Given the description of an element on the screen output the (x, y) to click on. 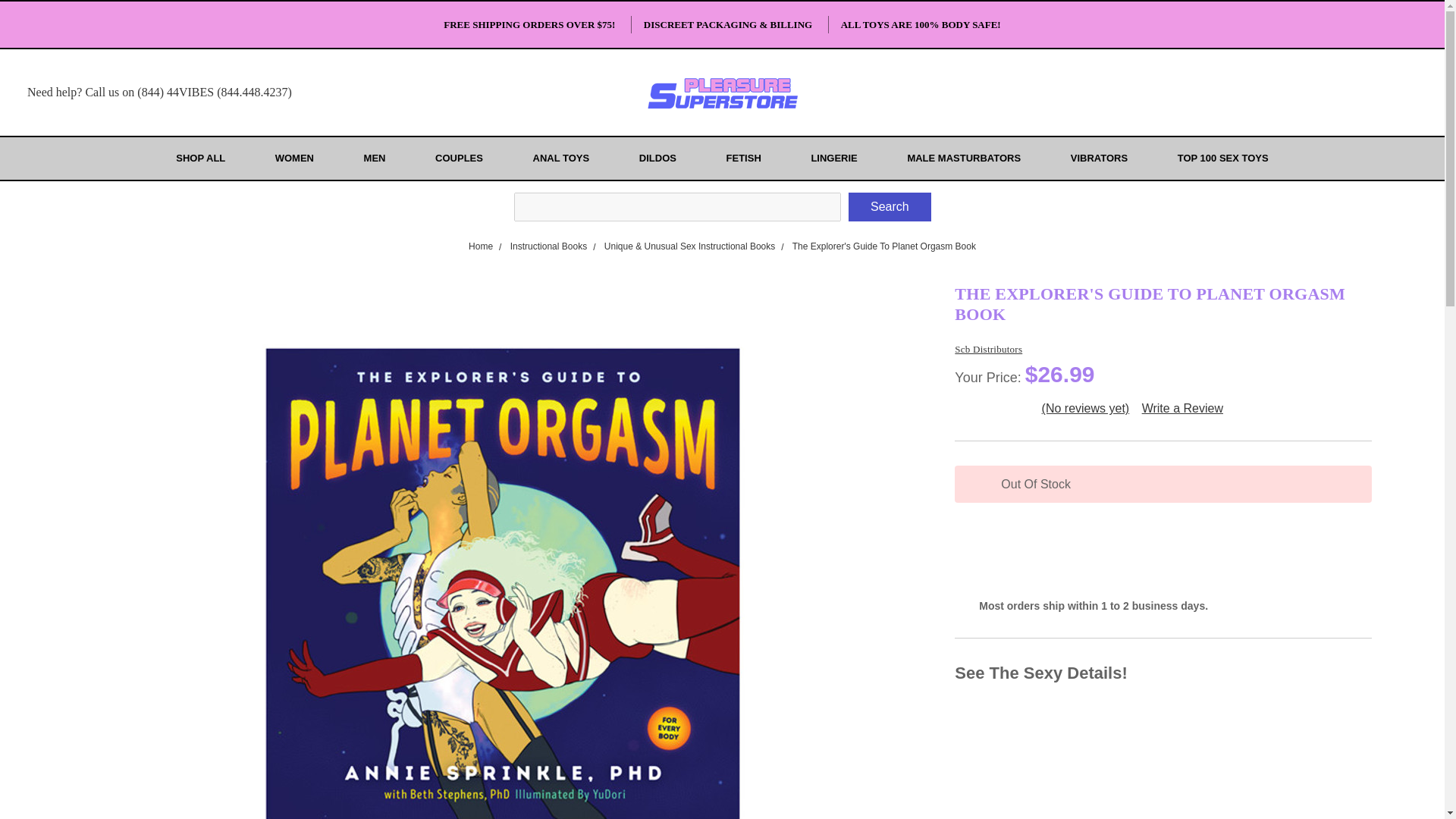
Shop All (206, 158)
SHOP ALL (206, 158)
Search (889, 206)
PleasureSuperstore.com (721, 92)
See The Sexy Details! (1163, 672)
